Given the description of an element on the screen output the (x, y) to click on. 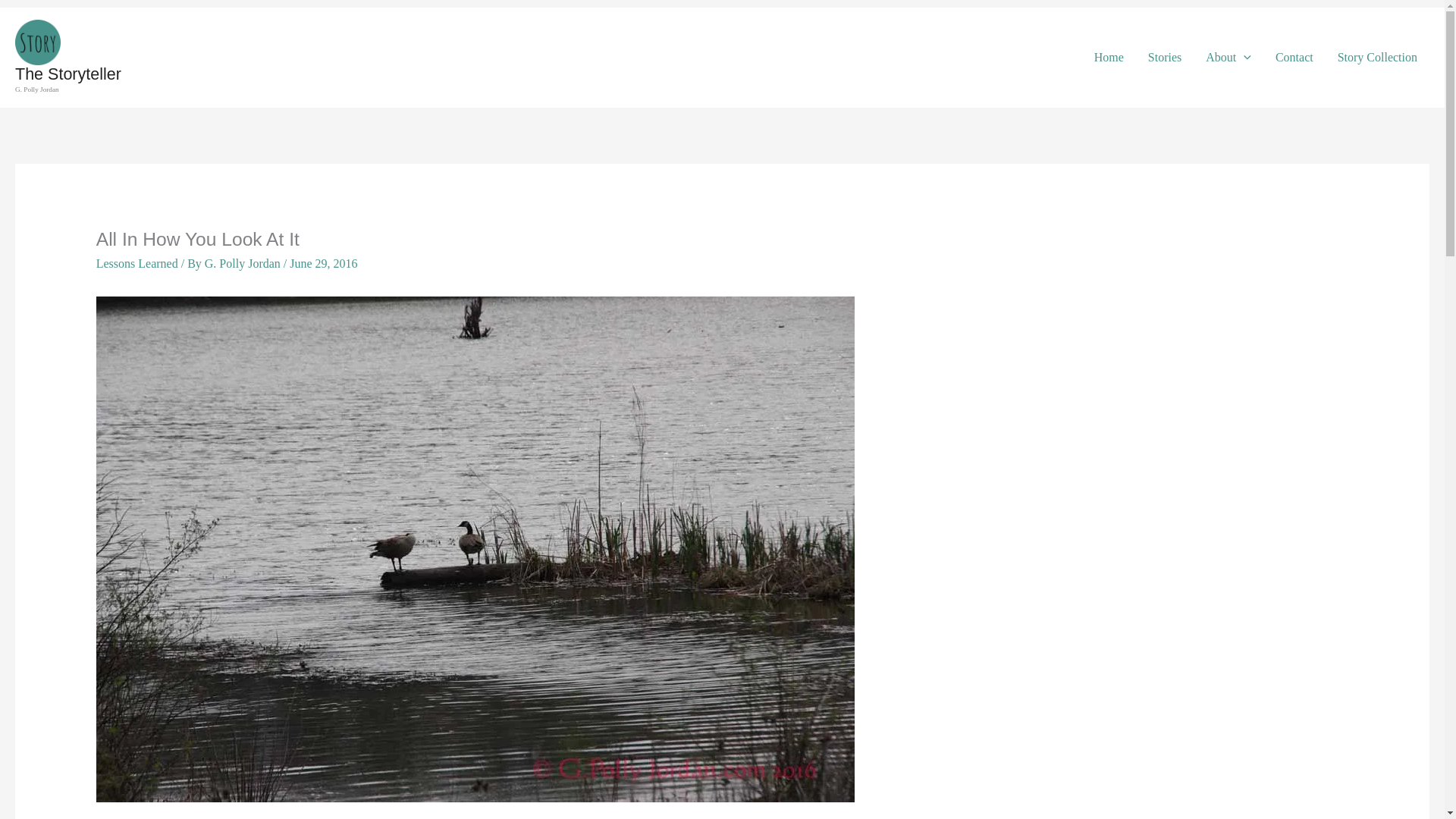
Lessons Learned (136, 263)
About (1228, 57)
View all posts by G. Polly Jordan (244, 263)
Home (1108, 57)
G. Polly Jordan (244, 263)
The Storyteller (67, 74)
Contact (1293, 57)
Story Collection (1376, 57)
Stories (1164, 57)
